Given the description of an element on the screen output the (x, y) to click on. 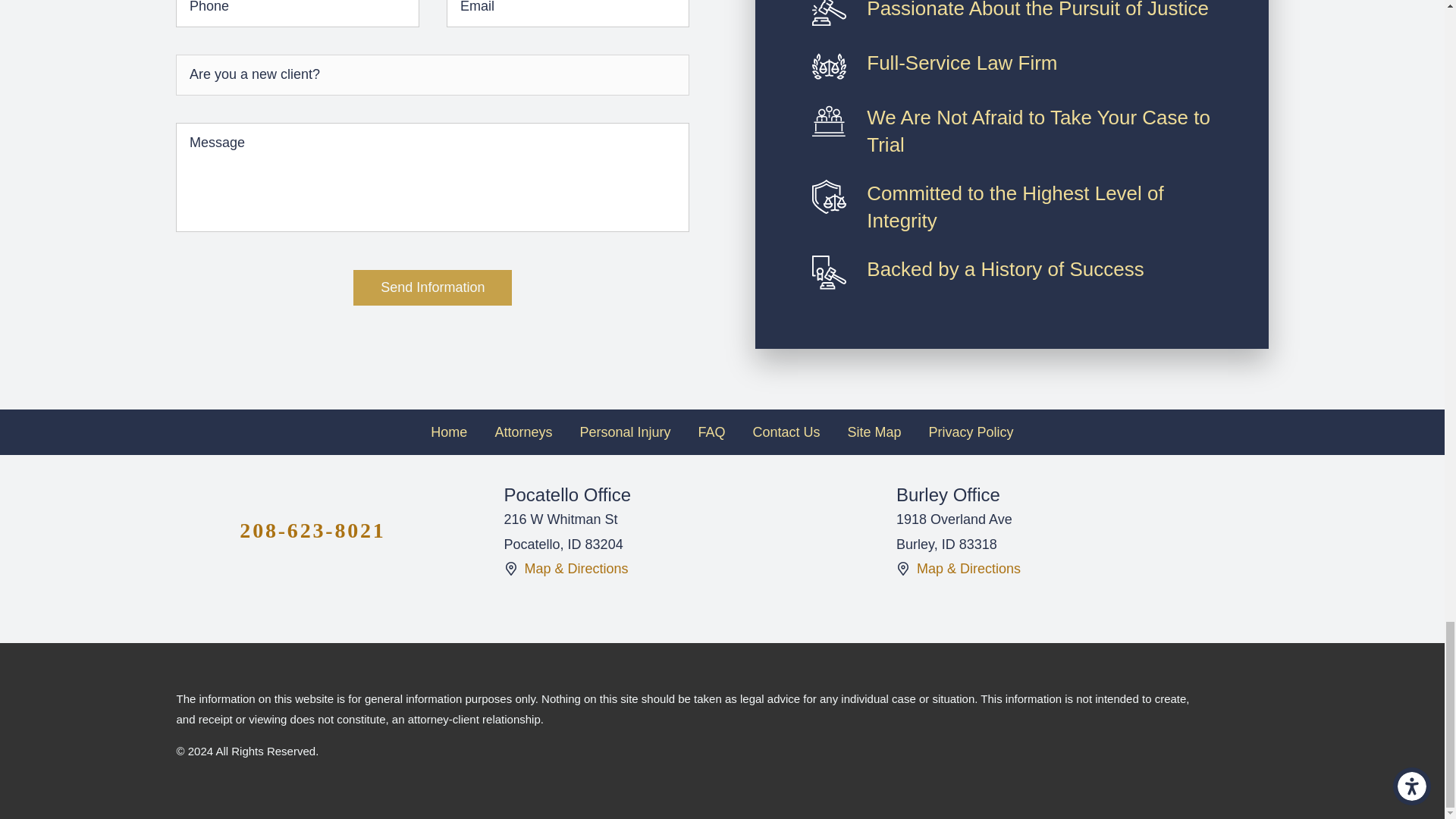
Site Icon (509, 568)
Site Icon (903, 568)
